Given the description of an element on the screen output the (x, y) to click on. 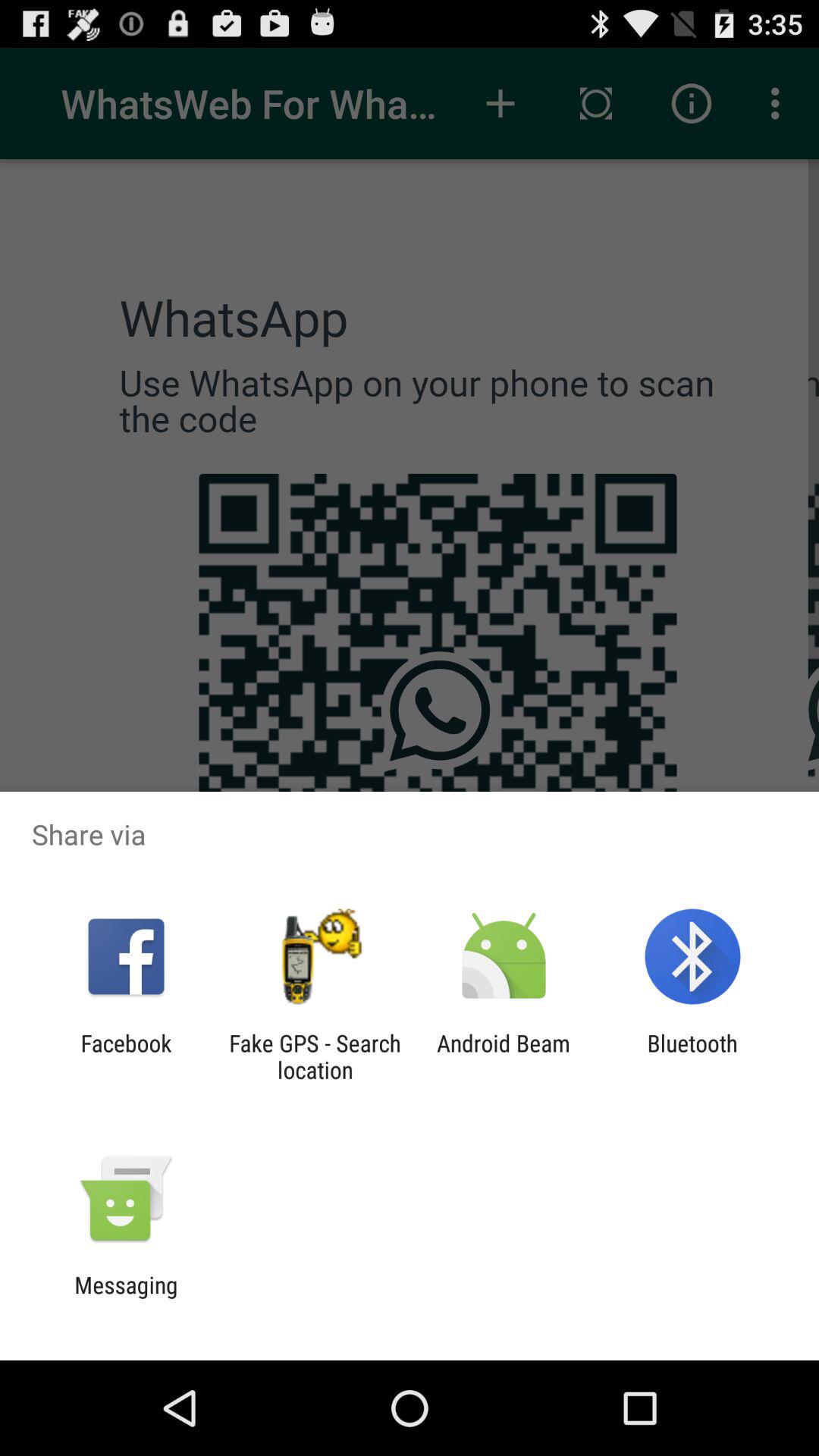
launch icon next to the bluetooth item (503, 1056)
